Given the description of an element on the screen output the (x, y) to click on. 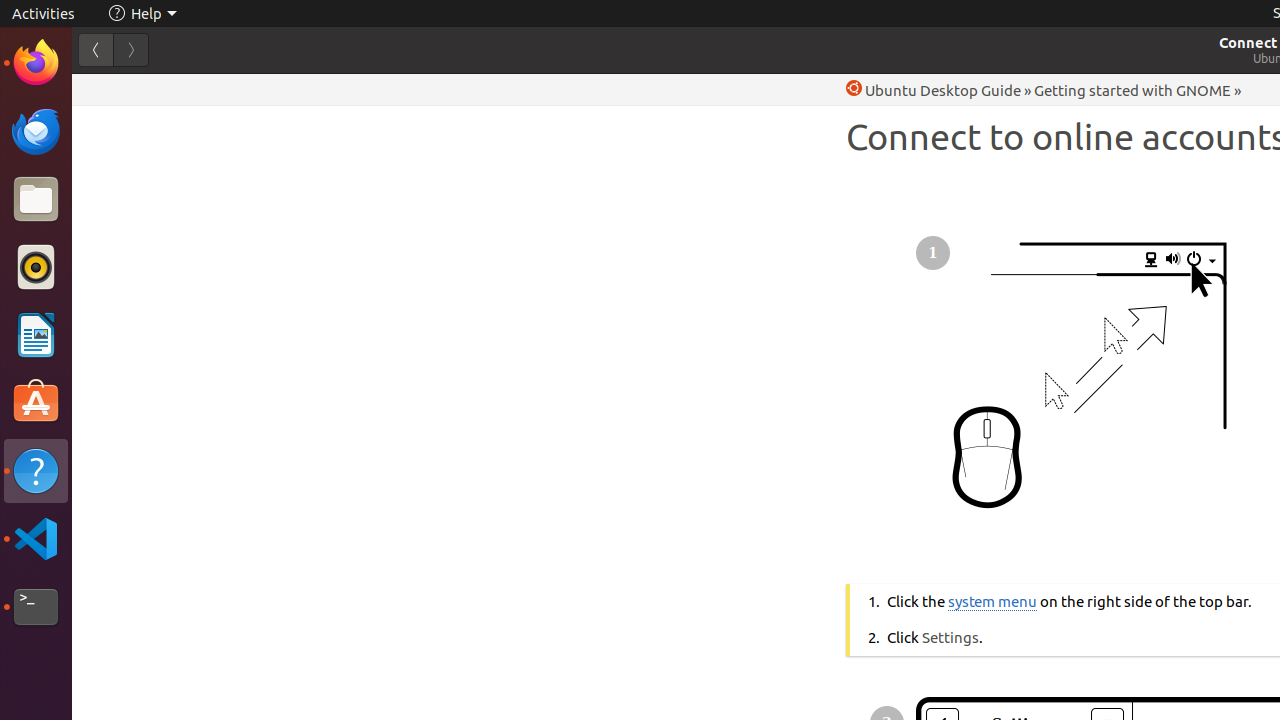
li.txt Element type: label (259, 89)
Getting started with GNOME Element type: link (1132, 90)
